Given the description of an element on the screen output the (x, y) to click on. 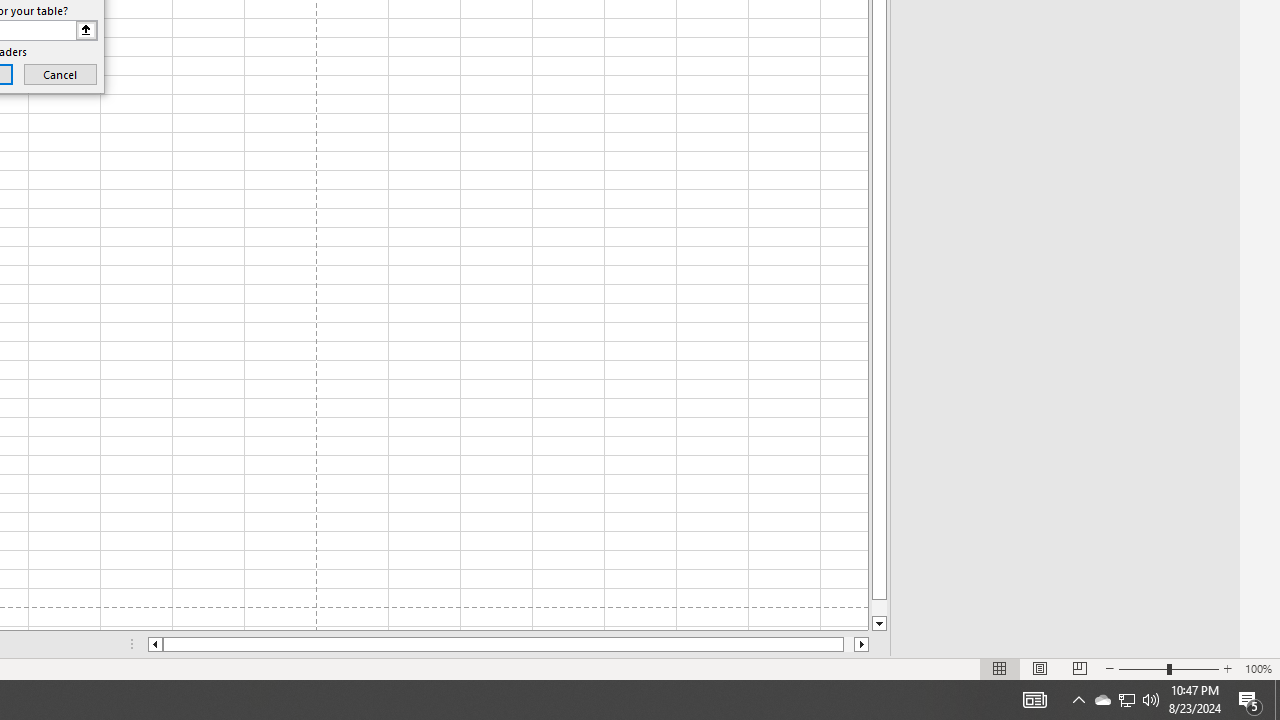
Page Layout (1039, 668)
Column right (861, 644)
Line down (879, 624)
Zoom (1168, 668)
Page Break Preview (1079, 668)
Page right (848, 644)
Column left (153, 644)
Zoom In (1227, 668)
Class: NetUIScrollBar (507, 644)
Normal (1000, 668)
Zoom Out (1142, 668)
Page down (879, 607)
